Given the description of an element on the screen output the (x, y) to click on. 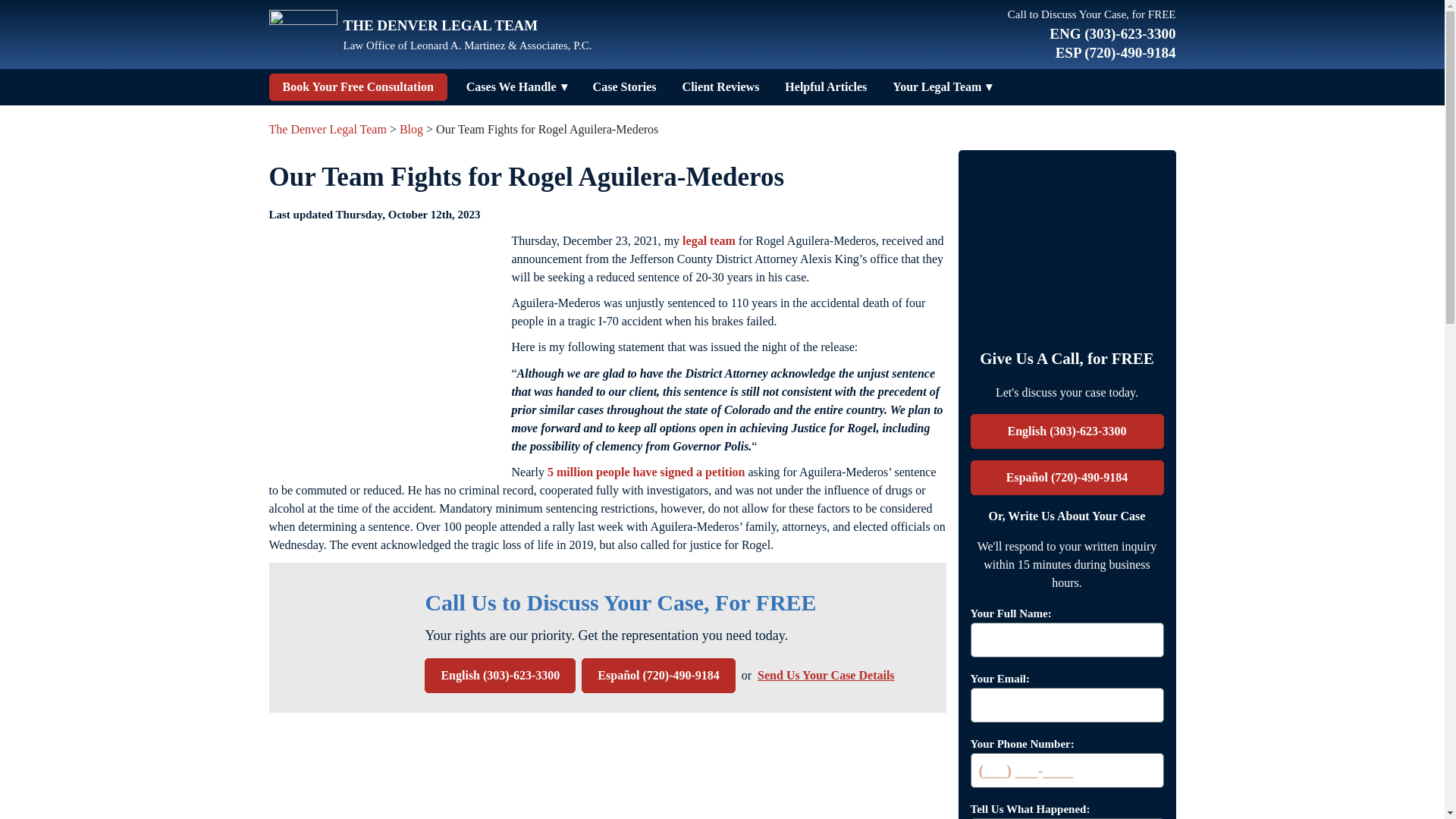
Case Stories (624, 86)
5 million people have signed a petition (645, 472)
Book Your Free Consultation (357, 86)
Client Reviews (721, 86)
Your Legal Team (936, 86)
Helpful Articles (825, 86)
Blog (410, 128)
Cases We Handle (510, 86)
Send Us Your Case Details (825, 675)
The Denver Legal Team (326, 128)
